Given the description of an element on the screen output the (x, y) to click on. 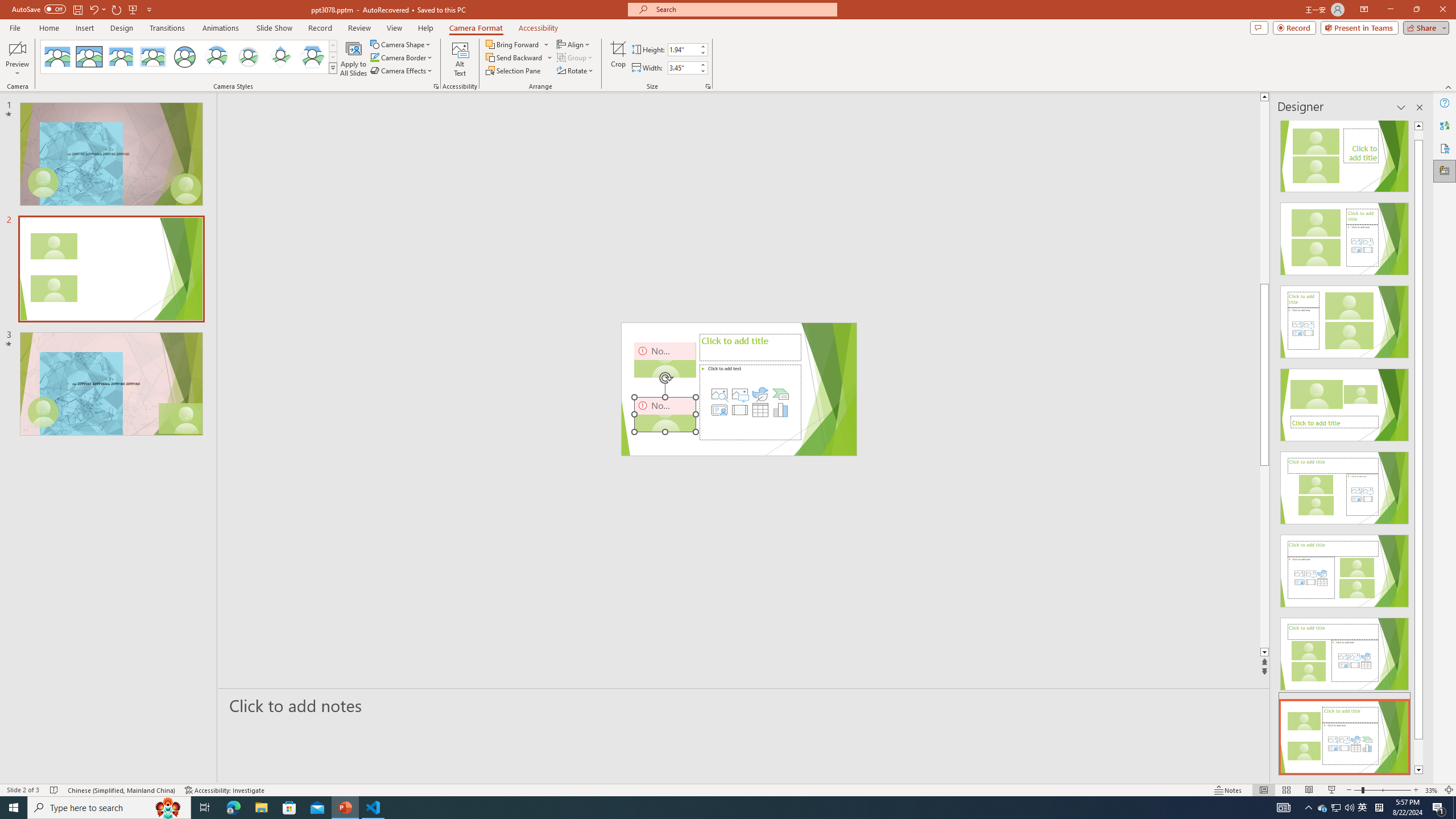
Soft Edge Rectangle (152, 56)
